Given the description of an element on the screen output the (x, y) to click on. 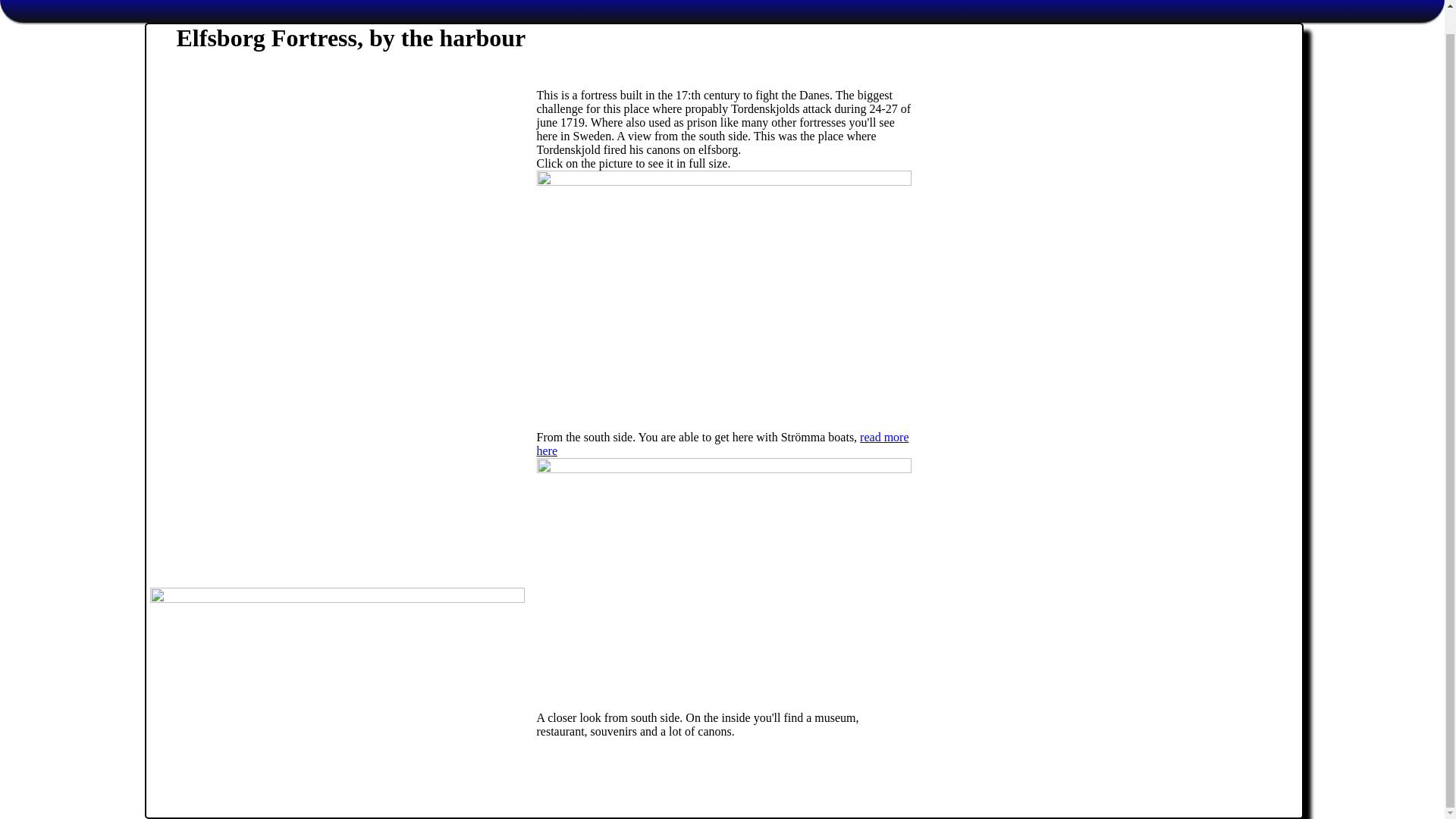
pa svenska (1116, 1)
HOME (32, 1)
MUSEUM (312, 1)
cheap accommodation in Gothenburg Sweden (413, 1)
ARCHIPELAGO (221, 1)
GOTHENBURG (116, 1)
TRAVEL (510, 1)
ACCOMMODATION (413, 1)
beaches and islands (221, 1)
